Given the description of an element on the screen output the (x, y) to click on. 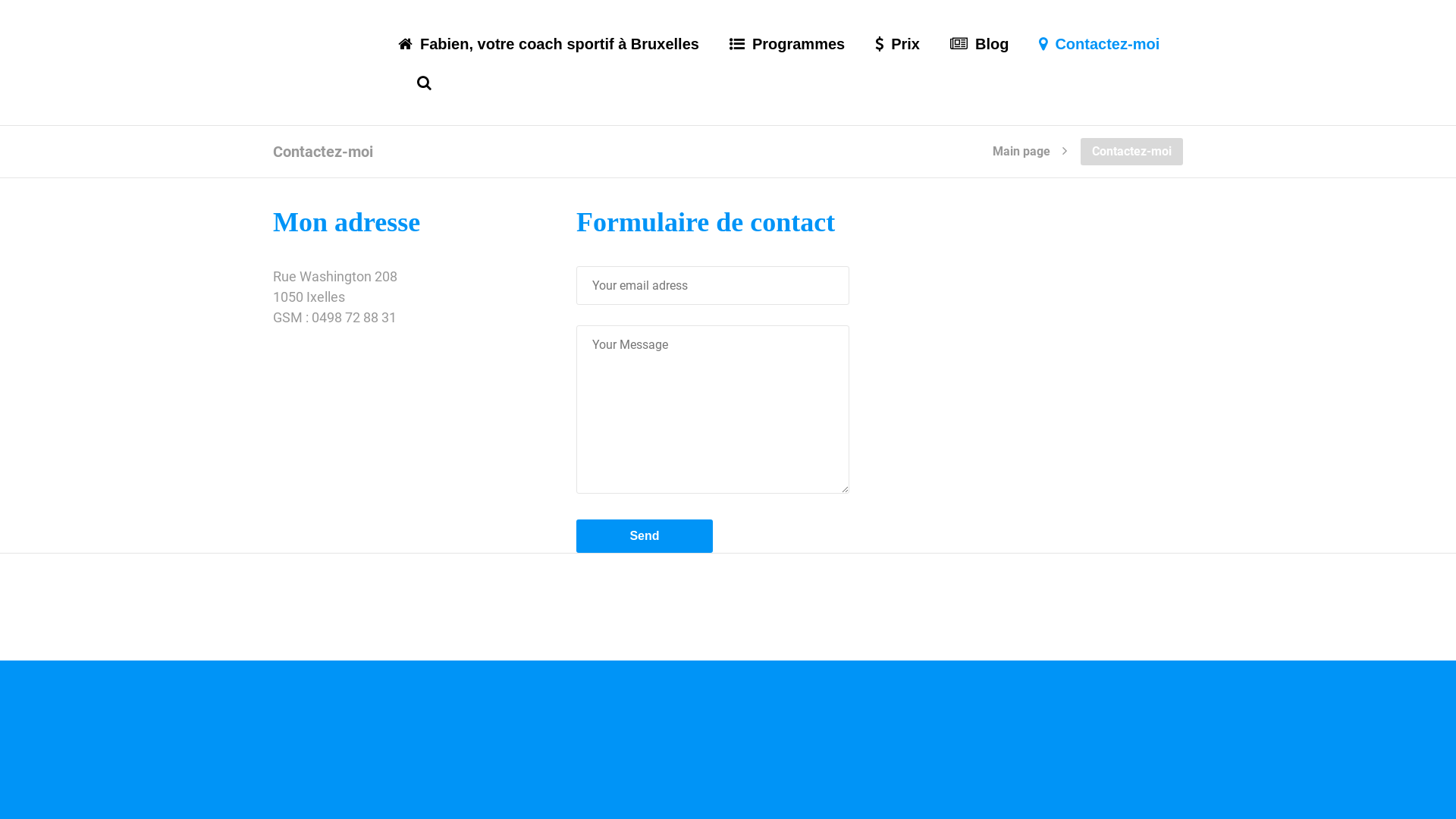
Main page Element type: text (1021, 147)
Programmes Element type: text (786, 61)
Blog Element type: text (979, 61)
Prix Element type: text (897, 61)
Send Element type: text (644, 535)
Contactez-moi Element type: text (1098, 61)
